Given the description of an element on the screen output the (x, y) to click on. 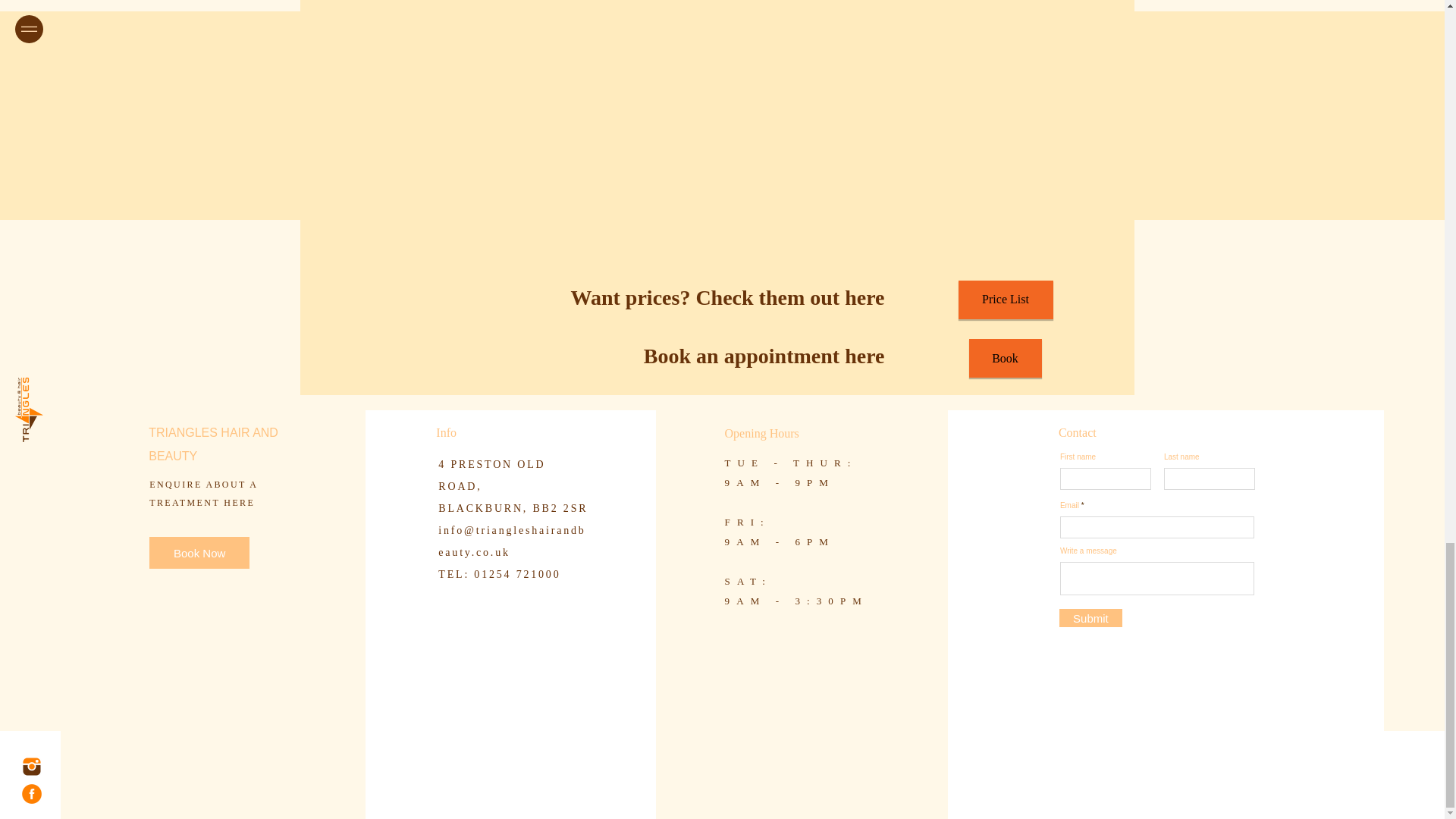
Book (1005, 358)
Submit (1090, 618)
Price List (1005, 299)
Book Now (198, 552)
